Given the description of an element on the screen output the (x, y) to click on. 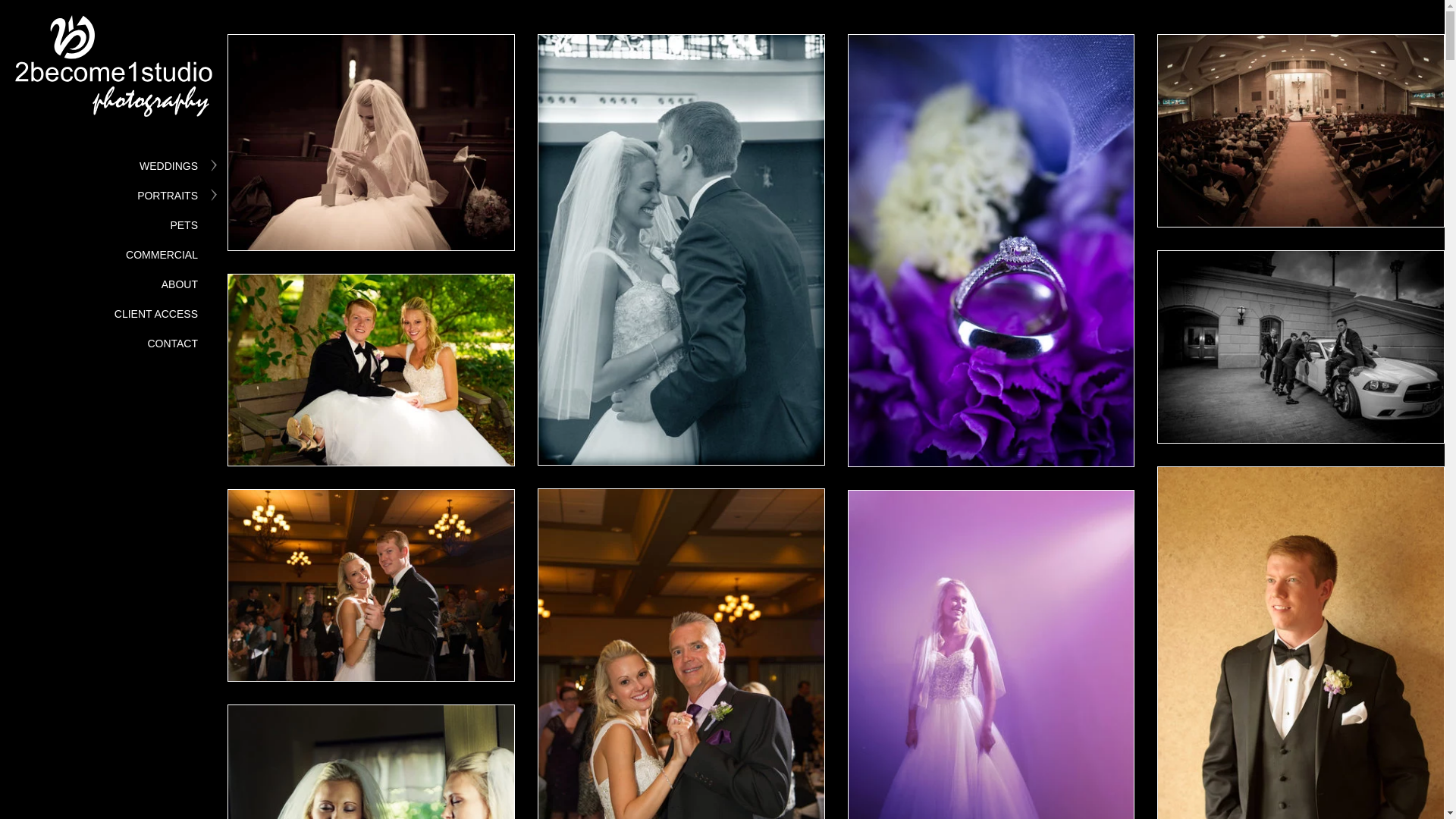
ABOUT Element type: text (179, 284)
2become1studio Element type: hover (113, 73)
PORTRAITS Element type: text (167, 195)
PETS Element type: text (183, 225)
WEDDINGS Element type: text (168, 166)
CLIENT ACCESS Element type: text (155, 313)
CONTACT Element type: text (172, 343)
COMMERCIAL Element type: text (161, 254)
